Given the description of an element on the screen output the (x, y) to click on. 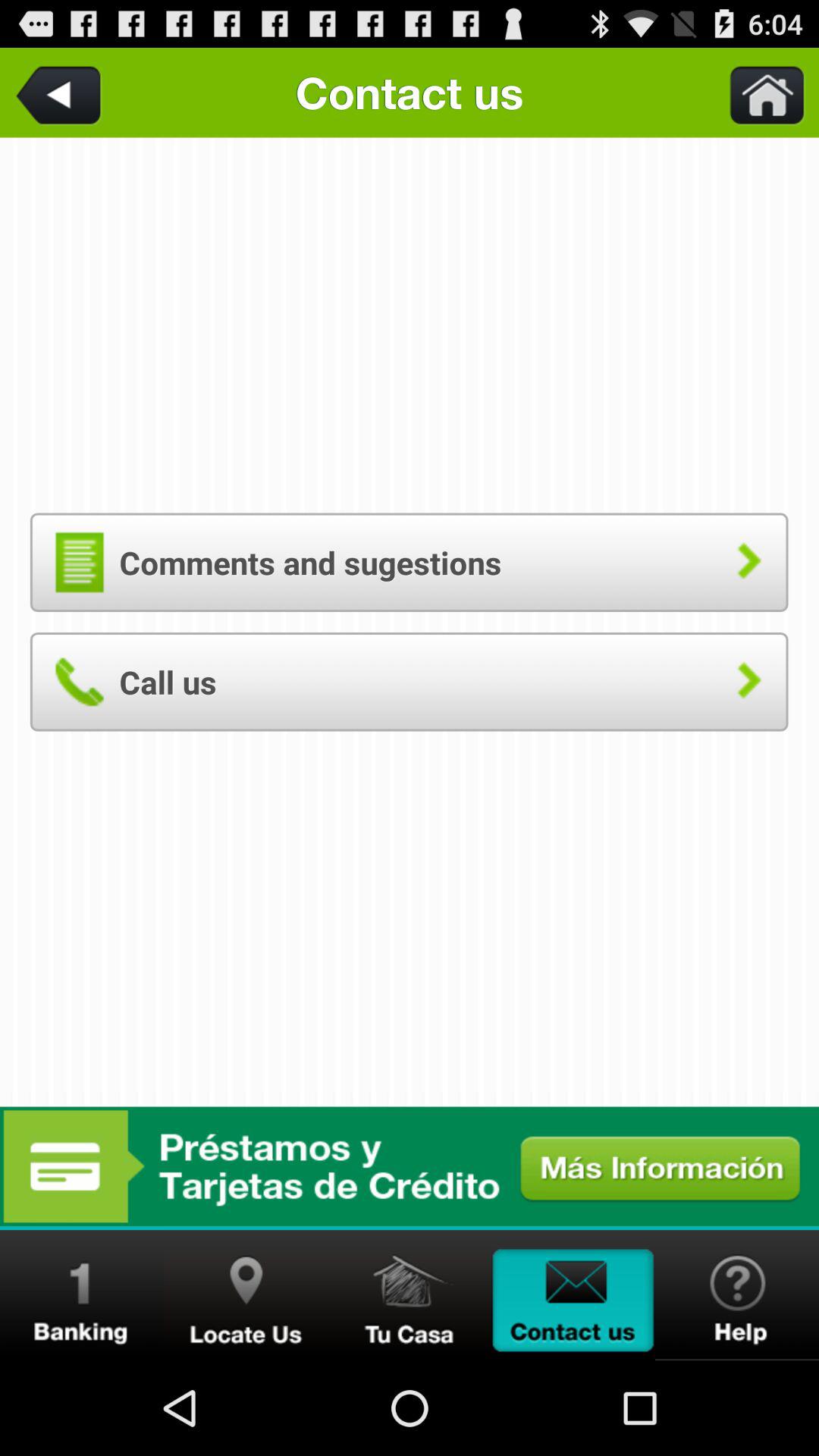
home button (757, 92)
